Given the description of an element on the screen output the (x, y) to click on. 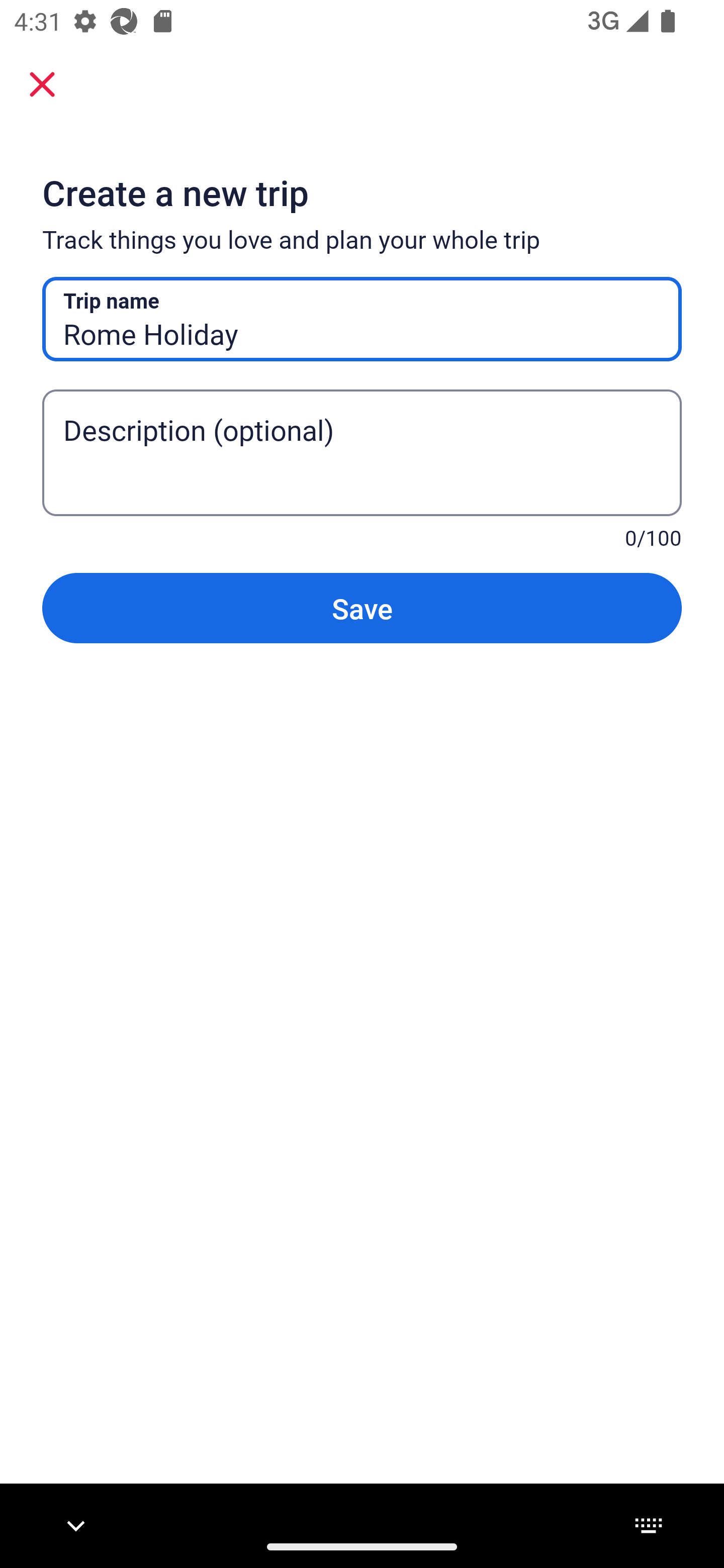
Close (41, 83)
Rome Holiday Trip name Trip name (361, 318)
Save Button Save (361, 607)
